Given the description of an element on the screen output the (x, y) to click on. 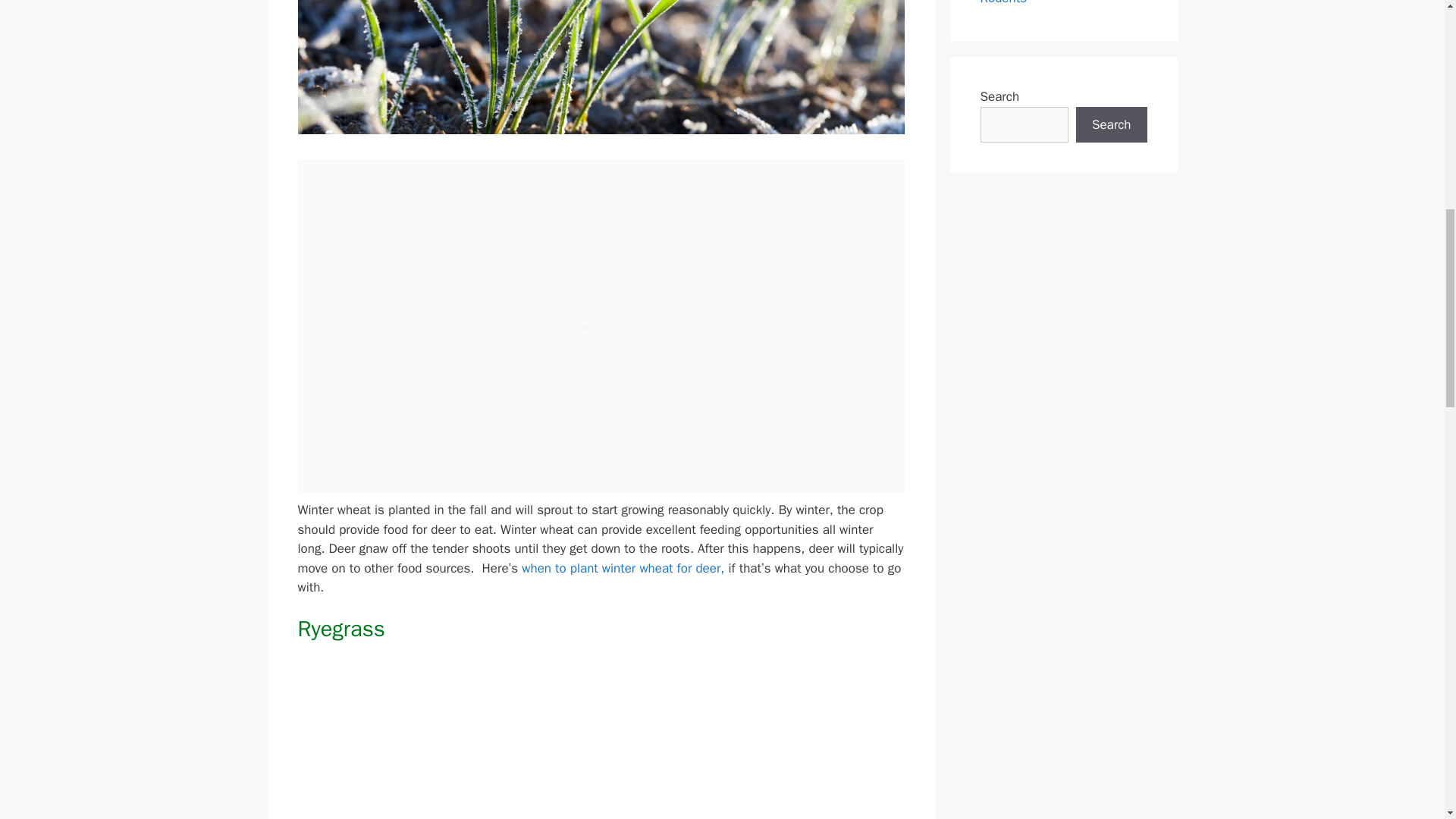
when to plant winter wheat for deer, (622, 568)
Search (1111, 124)
